Given the description of an element on the screen output the (x, y) to click on. 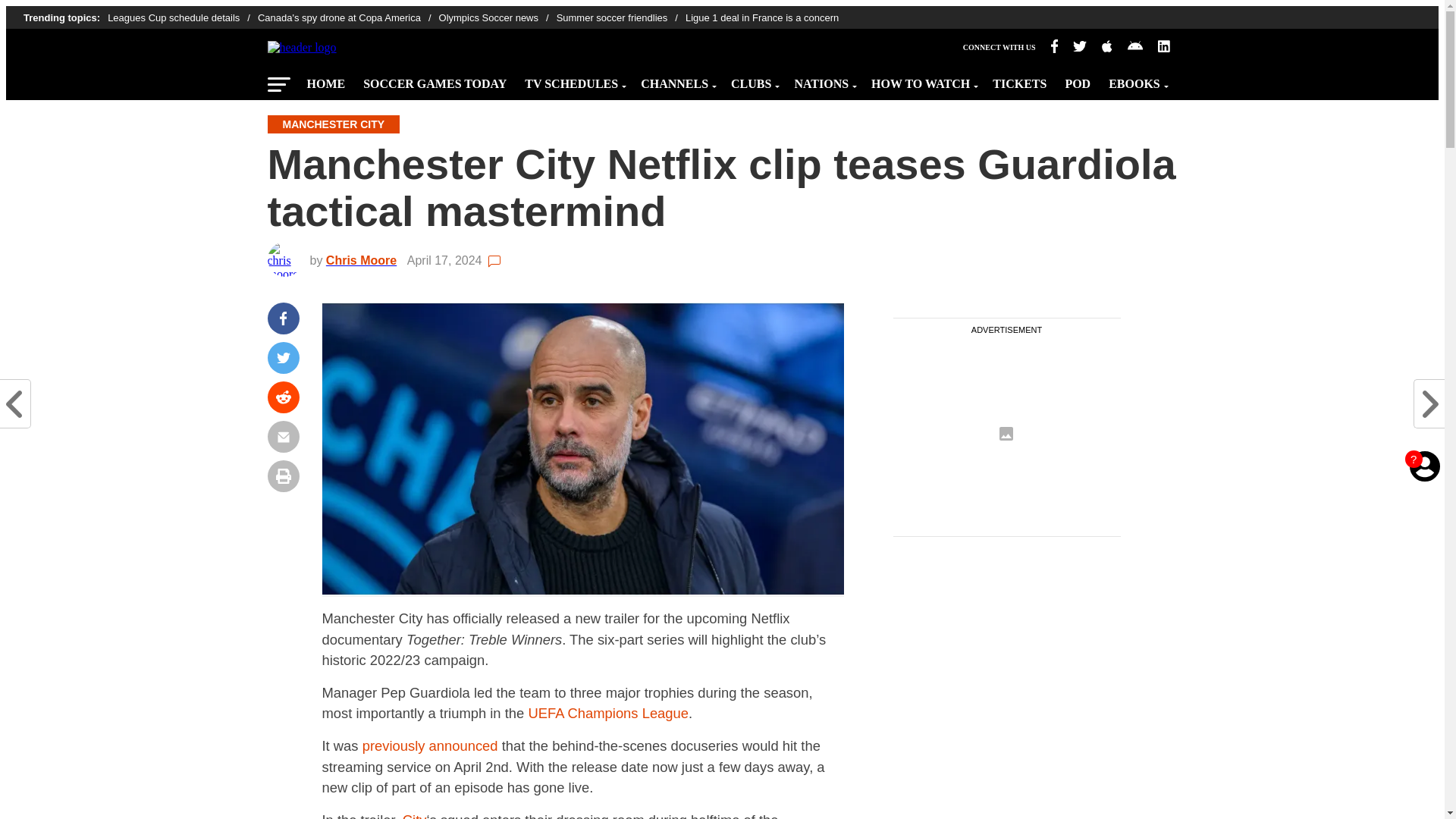
Summer soccer friendlies (620, 17)
Ligue 1 deal in France is a concern (761, 17)
TICKETS (1019, 80)
TV SCHEDULES (573, 80)
CLUBS (753, 80)
SOCCER GAMES TODAY (434, 80)
HOME (325, 80)
HOW TO WATCH (922, 80)
Olympics Soccer news (497, 17)
UEFA Champions League (607, 713)
Canada's spy drone at Copa America (348, 17)
EBOOKS (1136, 80)
POD (1077, 80)
CHANNELS (676, 80)
Chris Moore (365, 259)
